Given the description of an element on the screen output the (x, y) to click on. 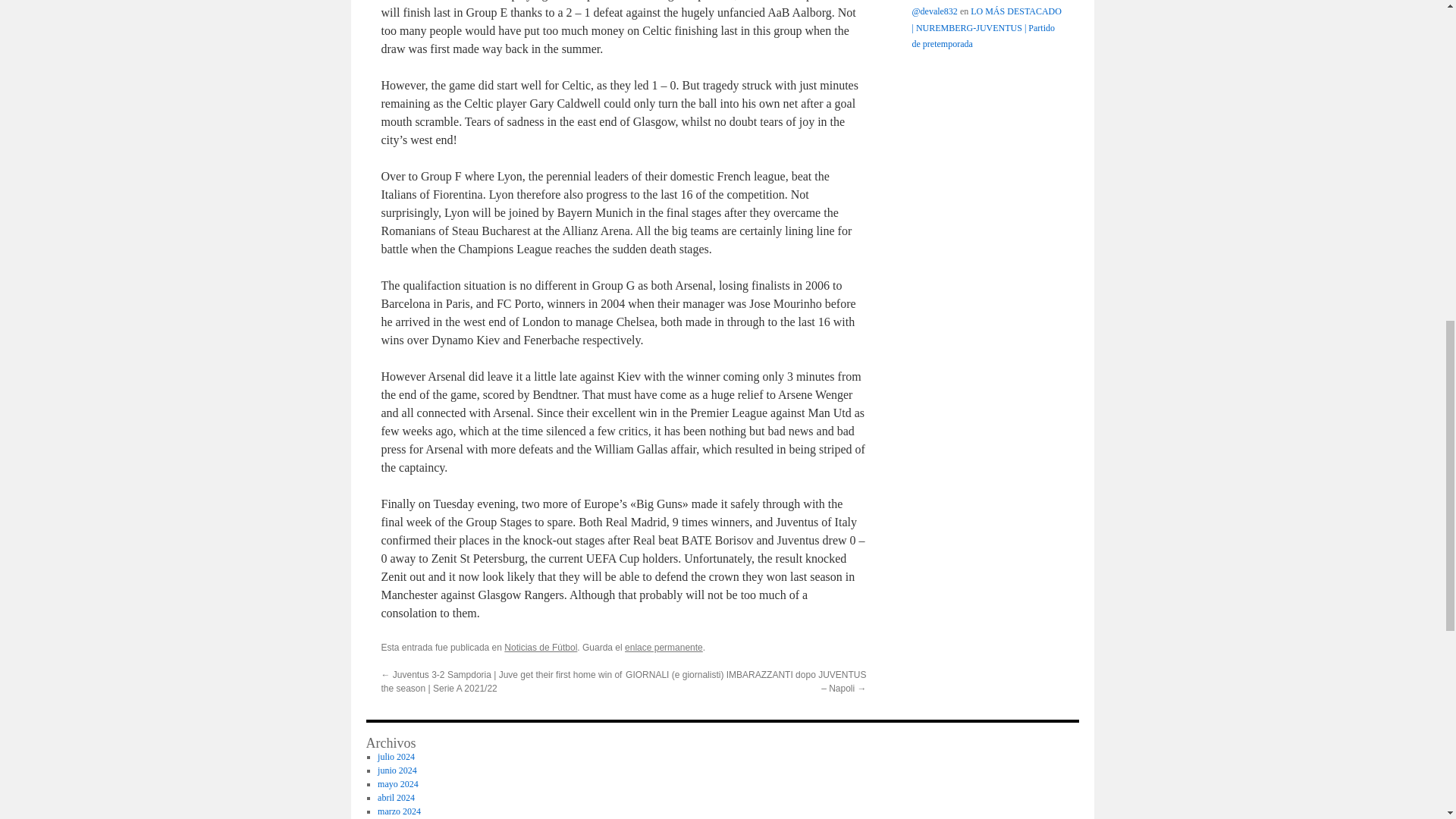
mayo 2024 (398, 783)
marzo 2024 (398, 810)
junio 2024 (396, 769)
abril 2024 (395, 797)
julio 2024 (395, 756)
enlace permanente (663, 647)
